Given the description of an element on the screen output the (x, y) to click on. 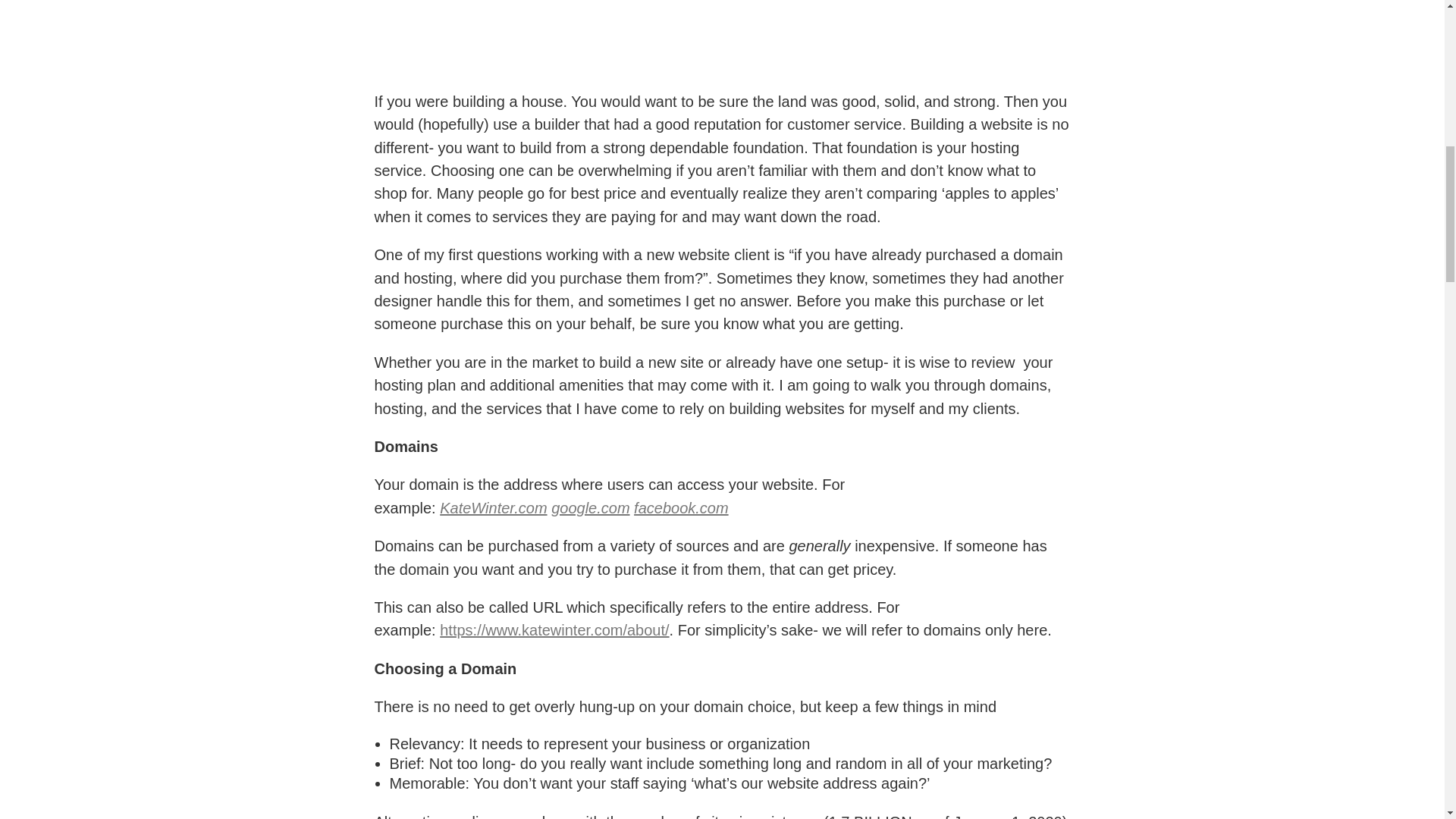
google.com (589, 507)
facebook.com (681, 507)
KateWinter.com (493, 507)
